Given the description of an element on the screen output the (x, y) to click on. 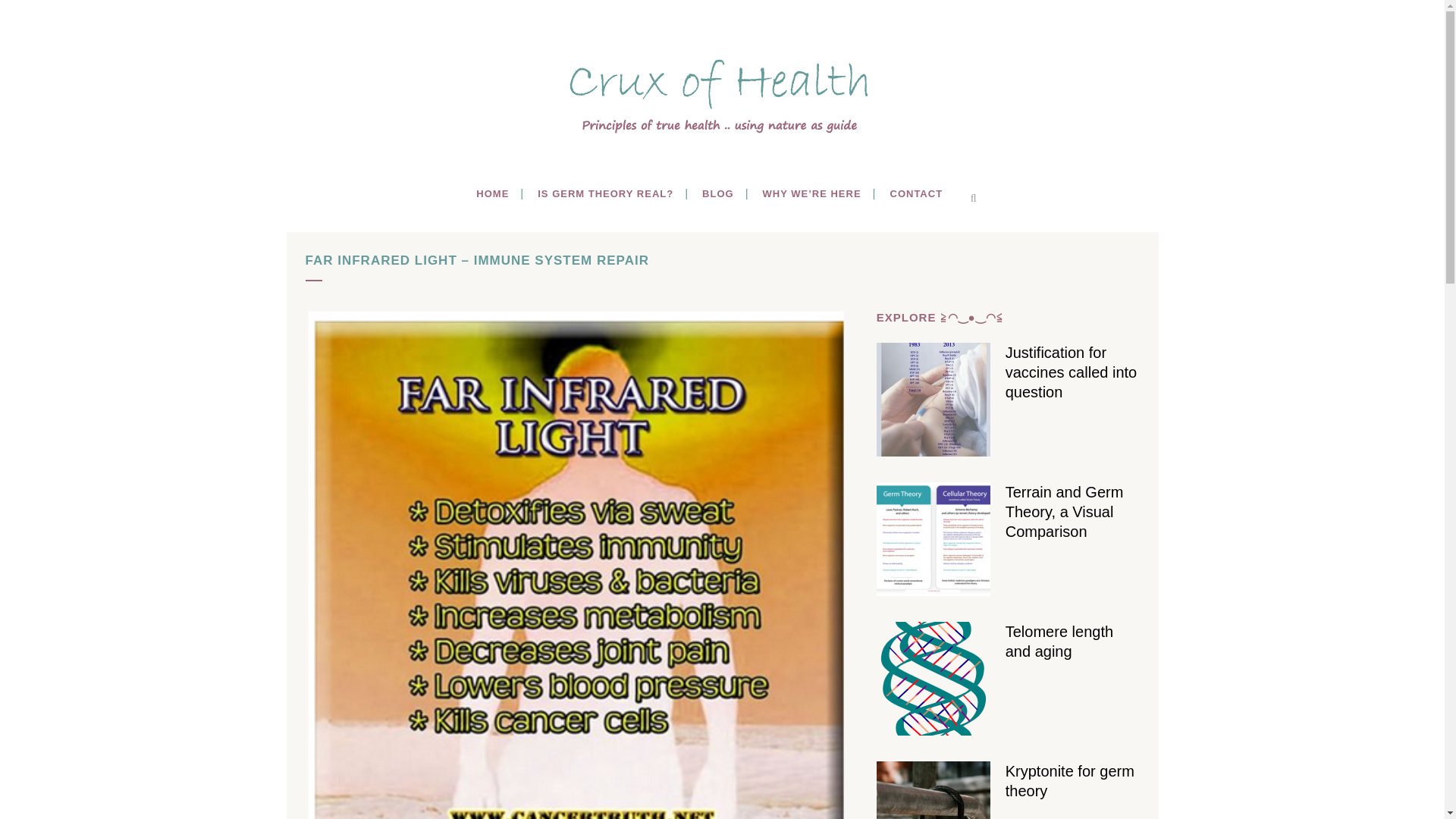
Telomere length and aging (1059, 641)
CONTACT (915, 193)
Justification for vaccines called into question (1071, 371)
IS GERM THEORY REAL? (604, 193)
Kryptonite for germ theory (1070, 780)
Terrain and Germ Theory, a Visual Comparison (1065, 511)
